Given the description of an element on the screen output the (x, y) to click on. 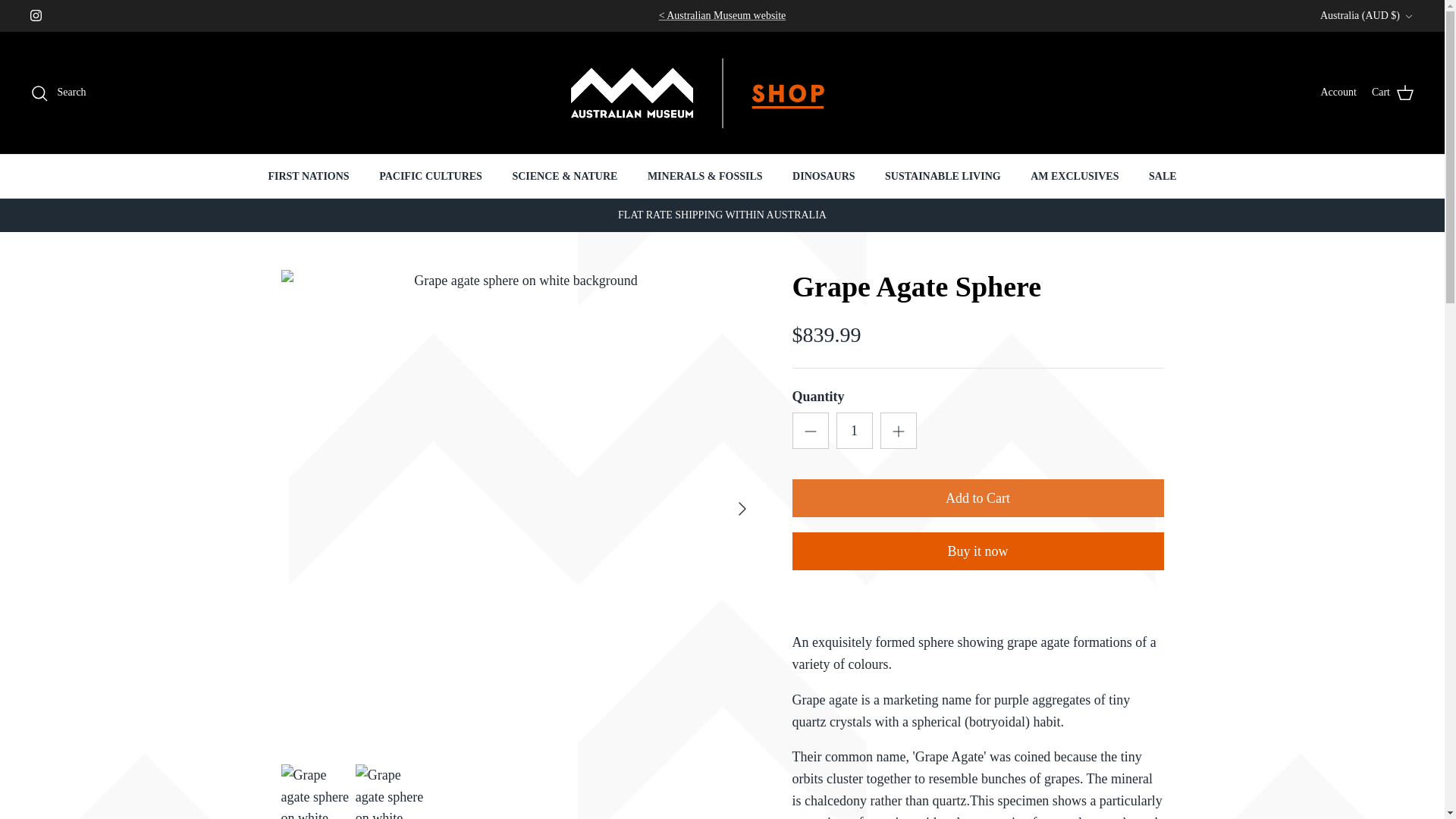
Right (741, 508)
Instagram (36, 15)
Instagram (36, 15)
Australian Museum Shop (721, 92)
Down (1408, 16)
Australian Museum (722, 15)
1 (853, 430)
Plus (897, 431)
Minus (809, 431)
